Given the description of an element on the screen output the (x, y) to click on. 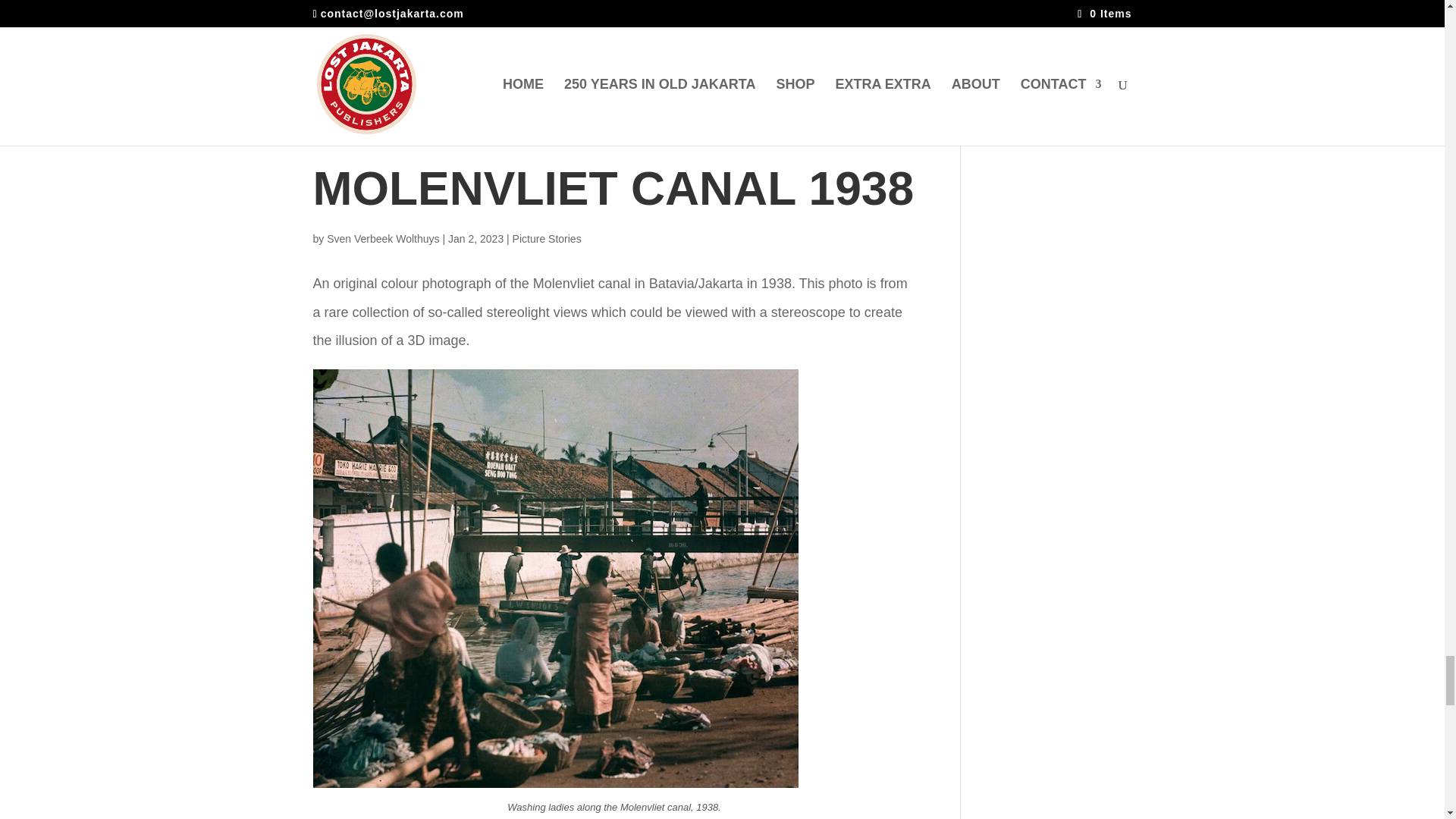
Picture Stories (546, 238)
MOLENVLIET CANAL 1938 (613, 188)
Posts by Sven Verbeek Wolthuys (382, 238)
Sven Verbeek Wolthuys (382, 238)
